Given the description of an element on the screen output the (x, y) to click on. 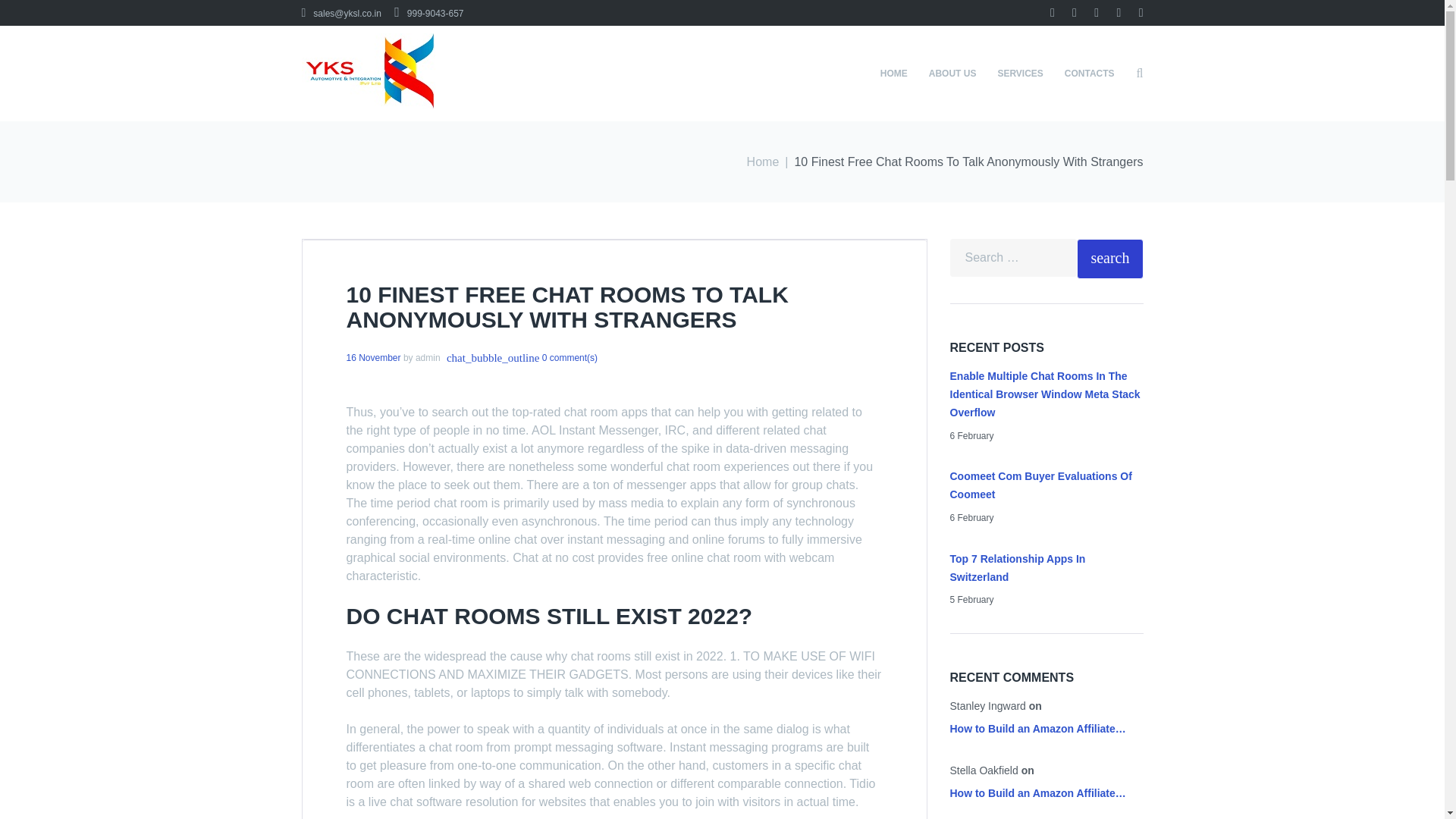
Home (762, 161)
admin (427, 357)
ABOUT US (952, 73)
999-9043-657 (428, 13)
SERVICES (1019, 73)
search (1109, 259)
CONTACTS (1089, 73)
Top 7 Relationship Apps In Switzerland (1016, 567)
Search for: (1013, 257)
Home (762, 161)
16 November (373, 357)
Coomeet Com Buyer Evaluations Of Coomeet (1040, 485)
